Given the description of an element on the screen output the (x, y) to click on. 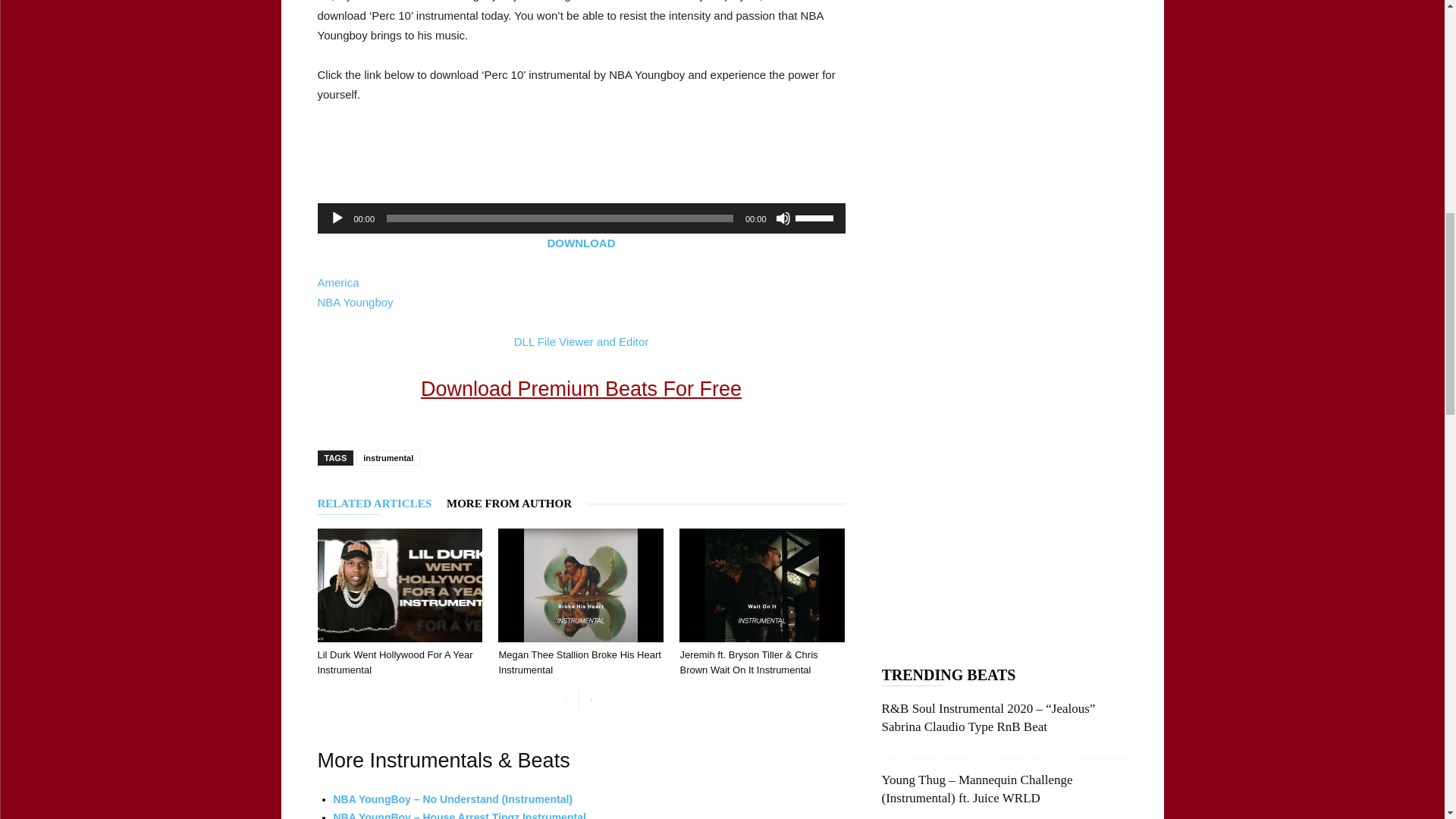
Lil Durk Went Hollywood For A Year Instrumental (399, 585)
Play (336, 218)
Mute (782, 218)
